Given the description of an element on the screen output the (x, y) to click on. 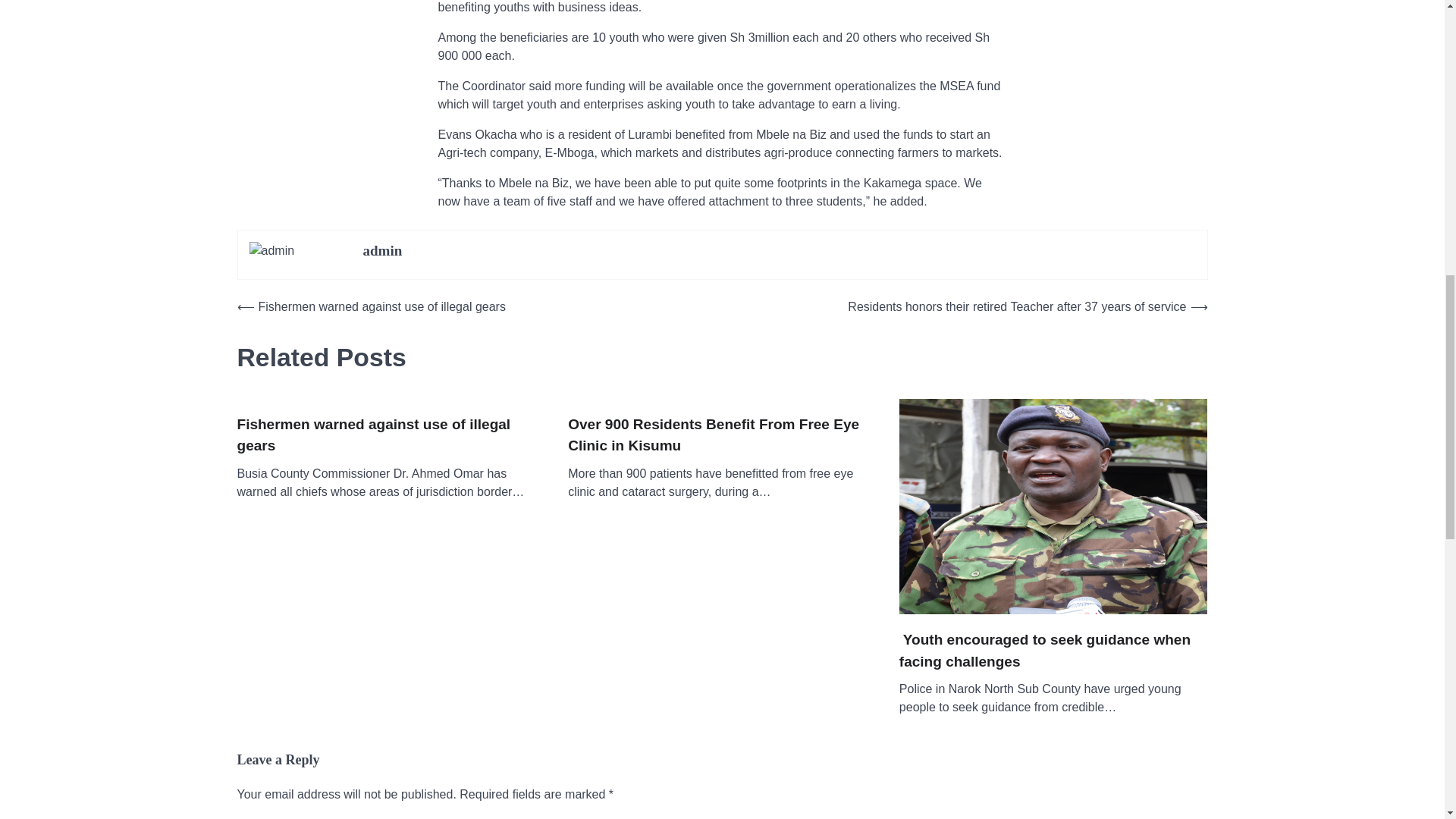
Fishermen warned against use of illegal gears (389, 435)
Over 900 Residents Benefit From Free Eye Clinic in Kisumu (721, 435)
 Youth encouraged to seek guidance when facing challenges (1053, 650)
